Given the description of an element on the screen output the (x, y) to click on. 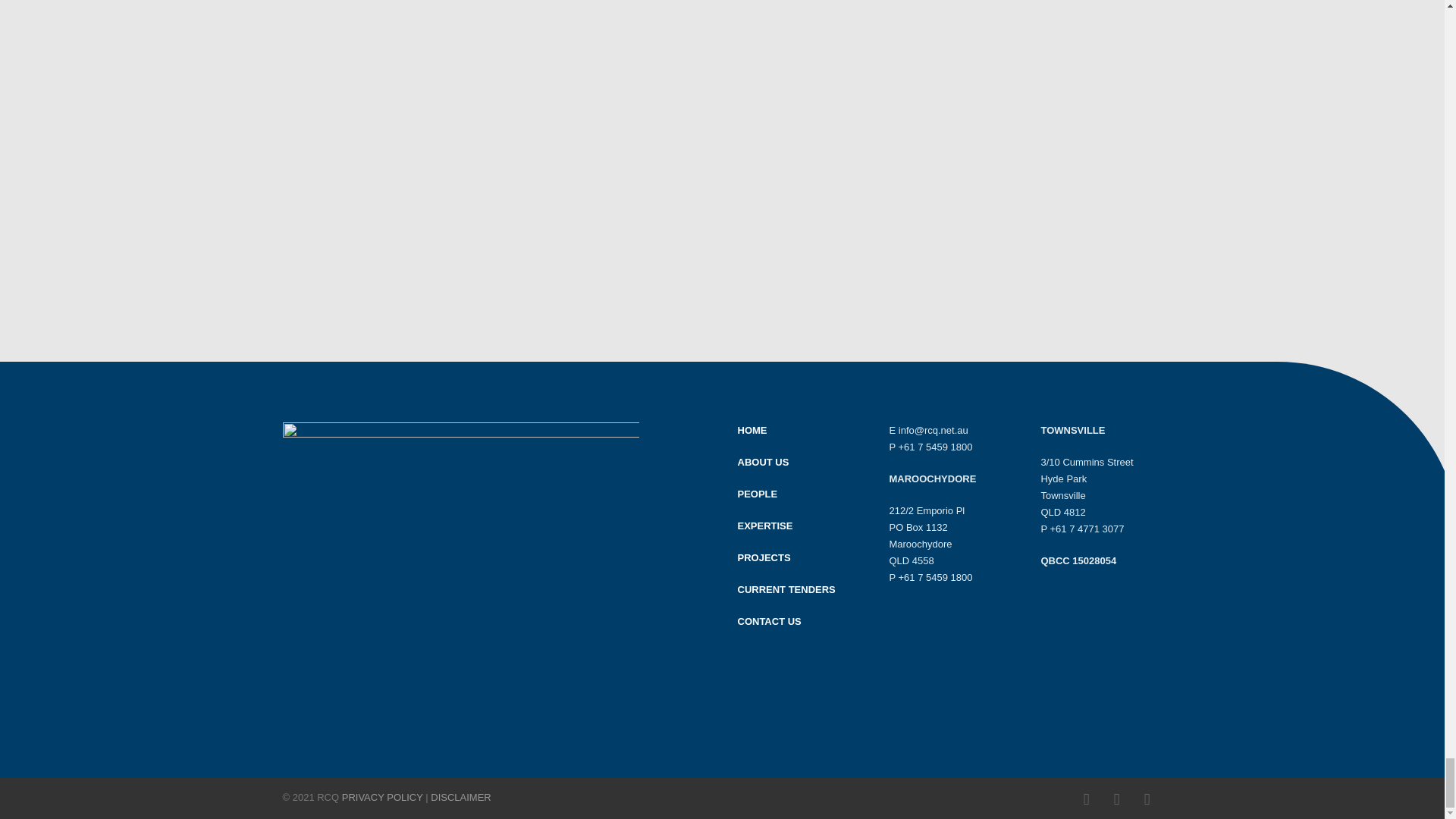
LinkedIn (1146, 798)
built (460, 569)
Facebook (1085, 798)
Instagram (1115, 798)
